Given the description of an element on the screen output the (x, y) to click on. 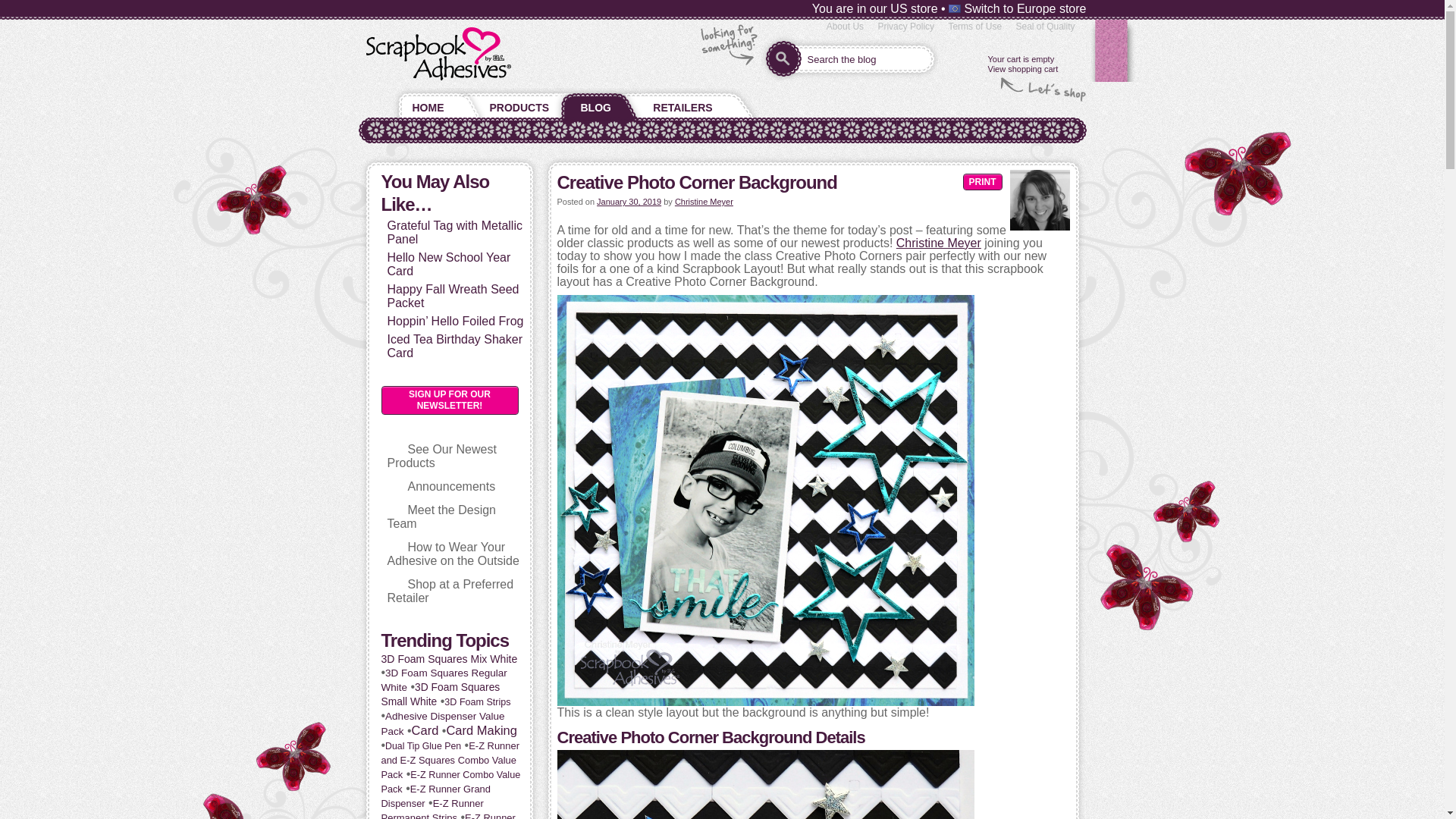
BLOG (594, 104)
57 topics (425, 730)
Switch to Europe store (1017, 8)
See Our Newest Products (441, 456)
3D Foam Strips (477, 701)
Terms of Use (974, 26)
Announcements (451, 486)
24 topics (449, 781)
31 topics (441, 723)
Card Making (480, 730)
